Given the description of an element on the screen output the (x, y) to click on. 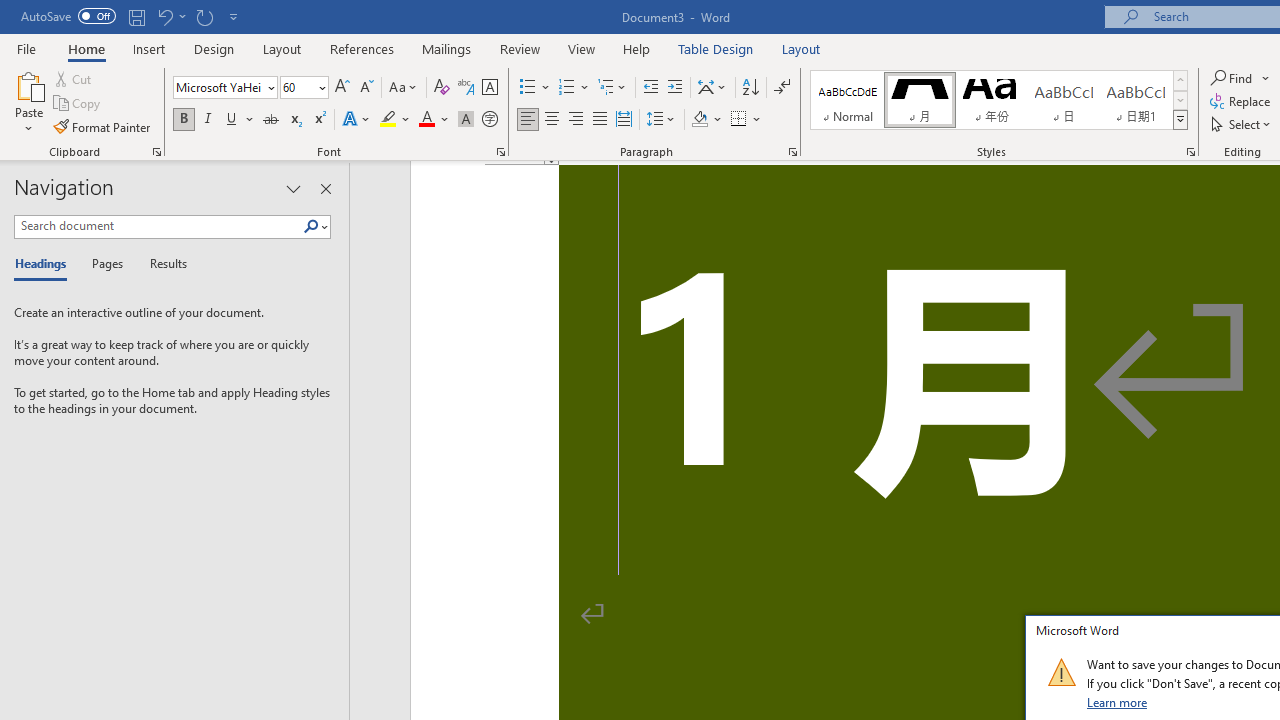
Replace... (1242, 101)
